Given the description of an element on the screen output the (x, y) to click on. 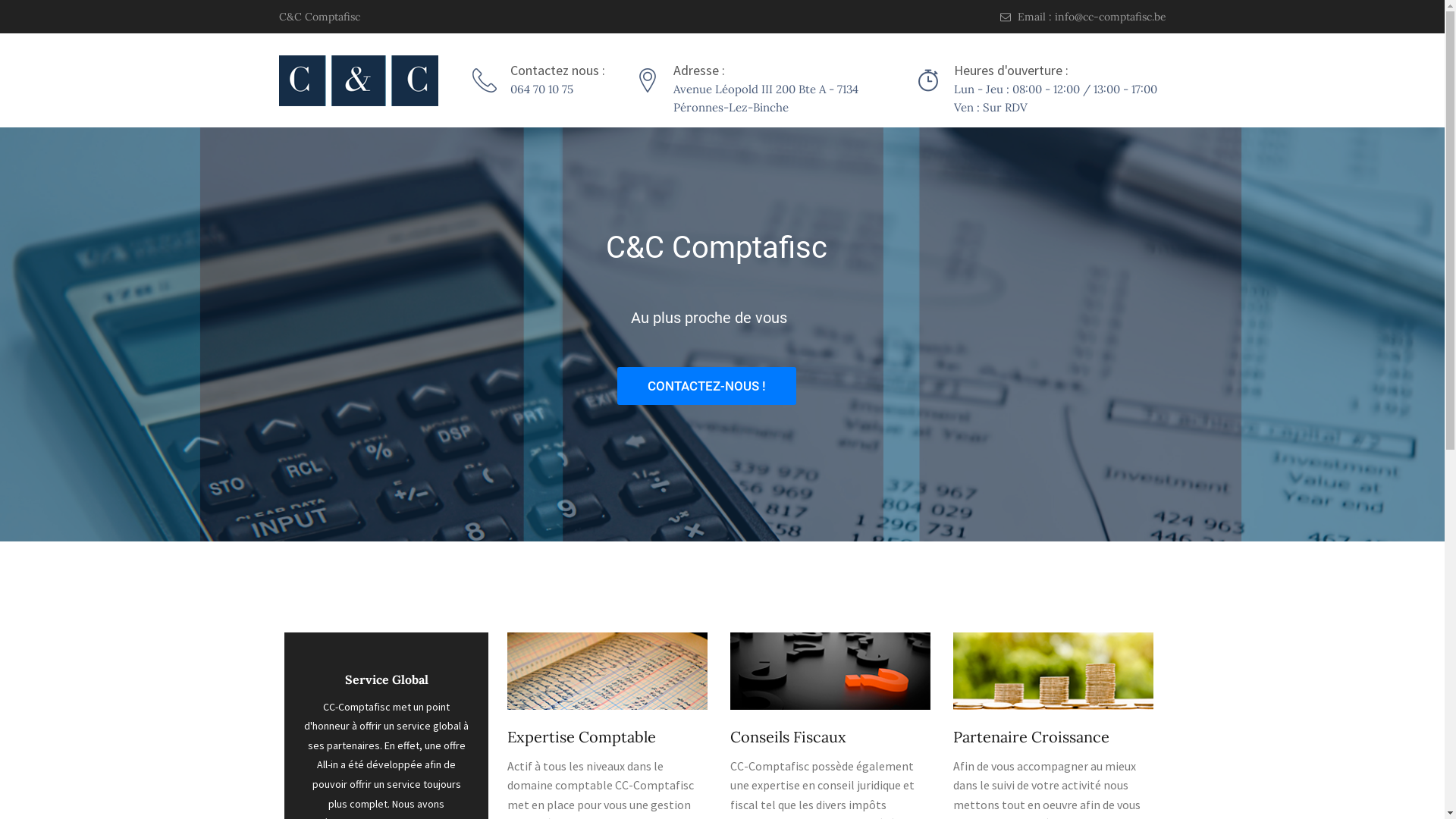
Expertise Comptable Element type: text (580, 736)
064 70 10 75 Element type: text (540, 88)
C&C Comptafisc Element type: text (319, 16)
CONTACTEZ-NOUS ! Element type: text (706, 385)
Partenaire Croissance Element type: text (1030, 736)
Conseils Fiscaux Element type: text (787, 736)
Email : info@cc-comptafisc.be Element type: text (1082, 16)
